Given the description of an element on the screen output the (x, y) to click on. 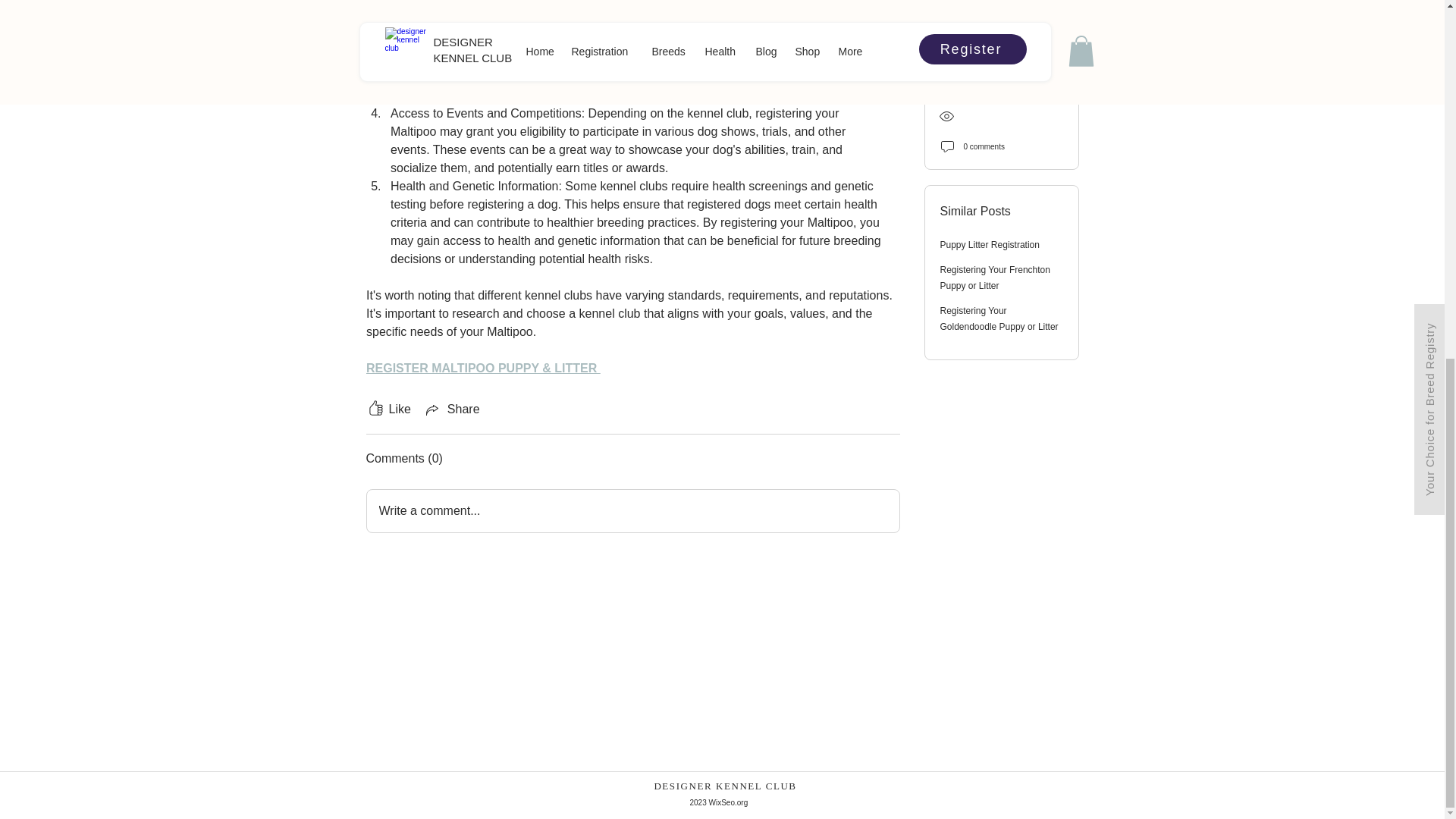
2023 WixSeo.org (719, 168)
Like (387, 409)
Registering your Maltipoo (621, 21)
Write a comment... (632, 510)
Registering Your Frenchton Puppy or Litter (994, 0)
Registering Your Goldendoodle Puppy or Litter (999, 28)
Share (451, 409)
